Given the description of an element on the screen output the (x, y) to click on. 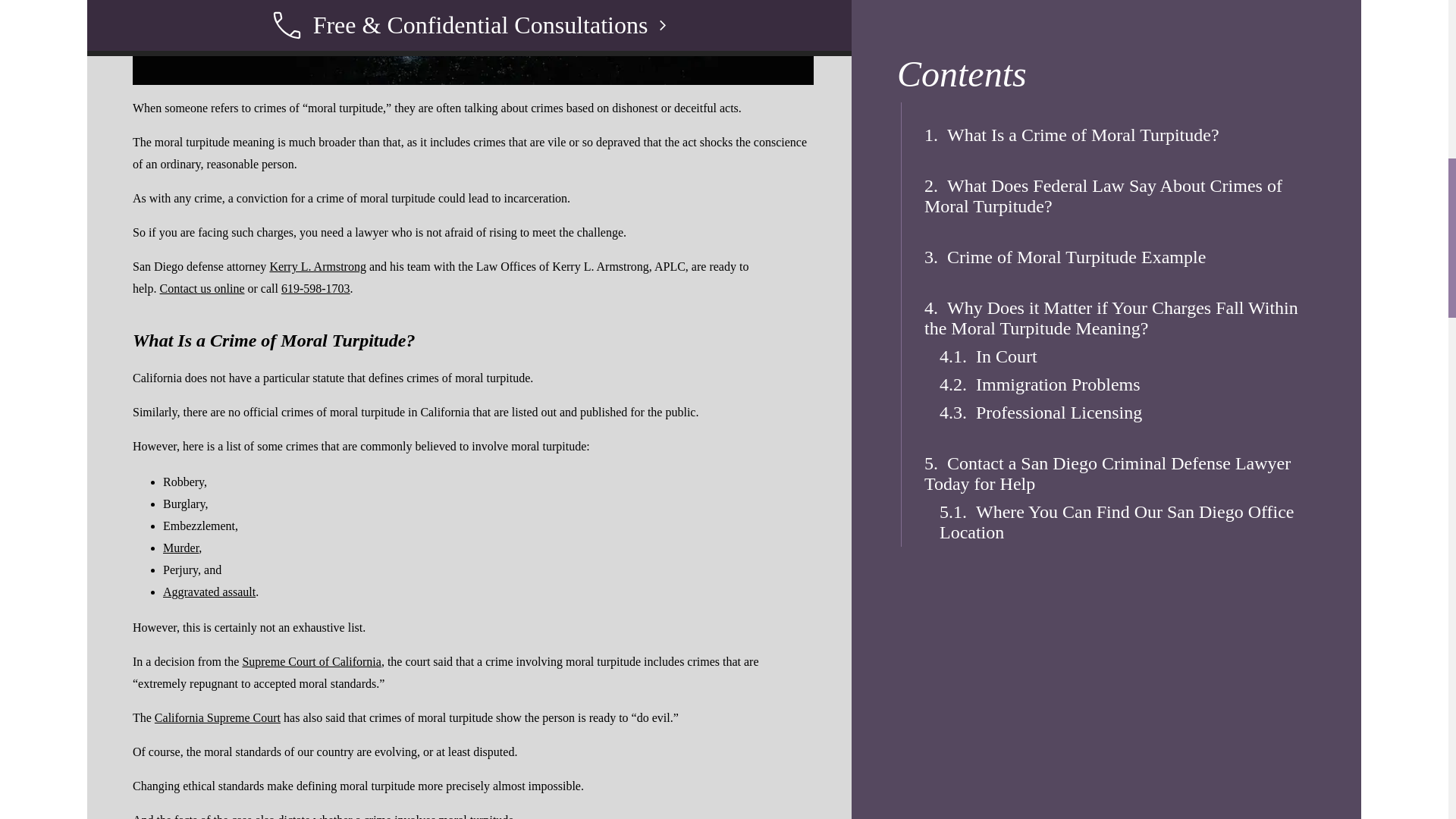
Contact us online (202, 287)
619-598-1703 (315, 287)
Kerry L. Armstrong (317, 266)
